Given the description of an element on the screen output the (x, y) to click on. 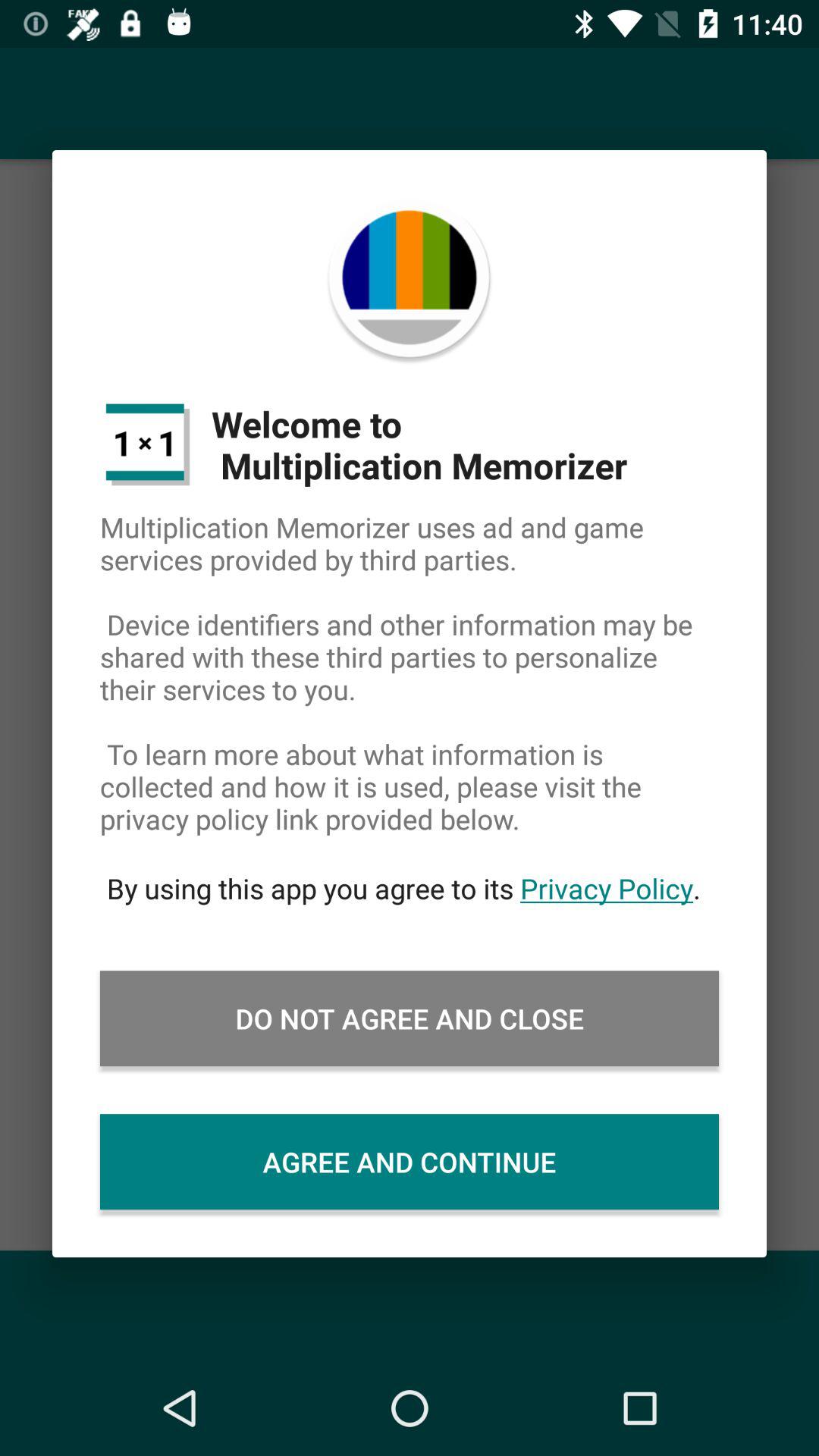
turn off the item above the agree and continue (409, 1018)
